Given the description of an element on the screen output the (x, y) to click on. 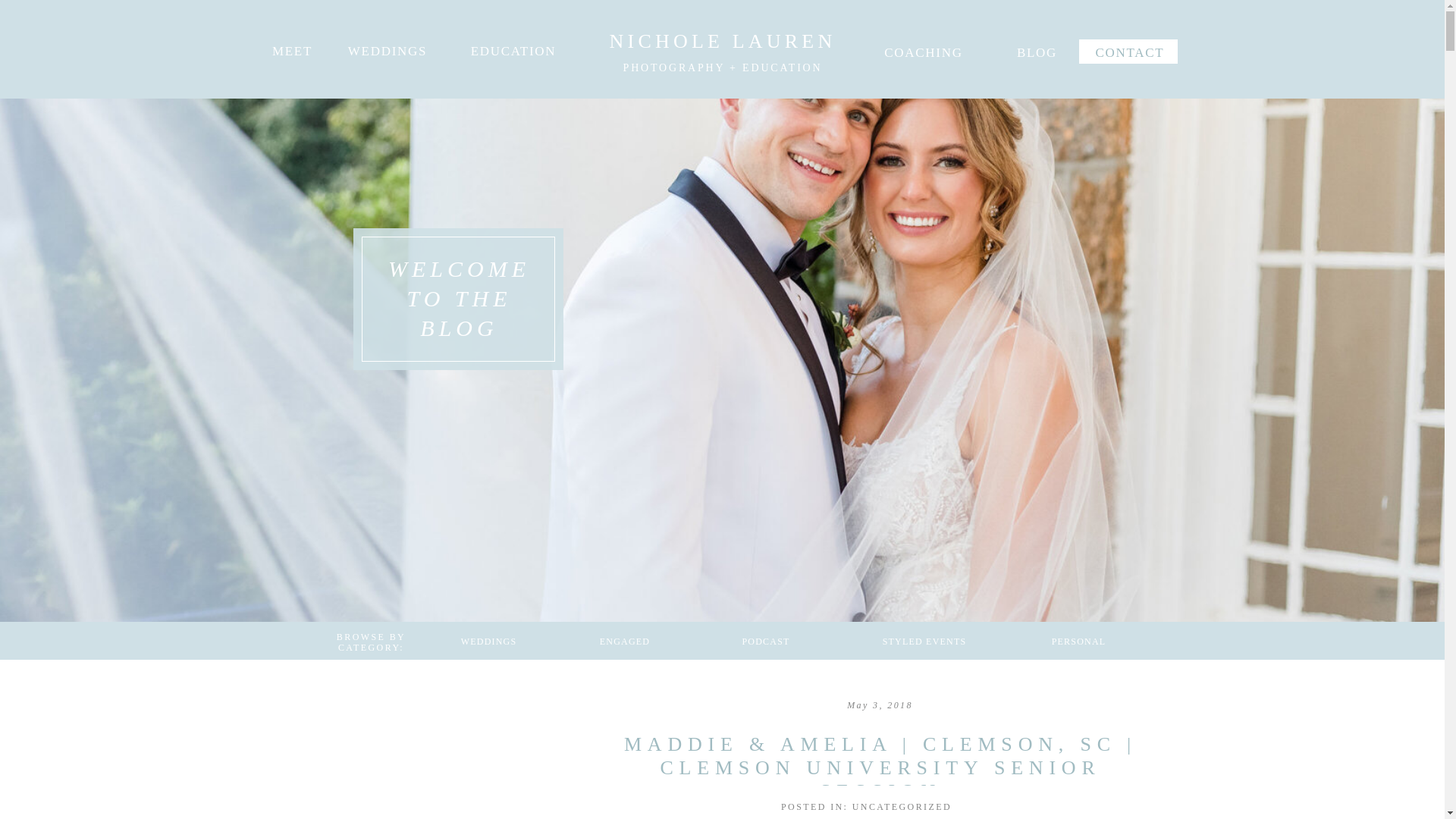
STYLED EVENTS (923, 641)
COACHING (923, 48)
WEDDINGS (488, 641)
BLOG (1036, 48)
EDUCATION (513, 48)
CONTACT (1130, 48)
PODCAST (766, 641)
PERSONAL (1078, 641)
WEDDINGS (386, 48)
NICHOLE LAUREN (722, 38)
